Given the description of an element on the screen output the (x, y) to click on. 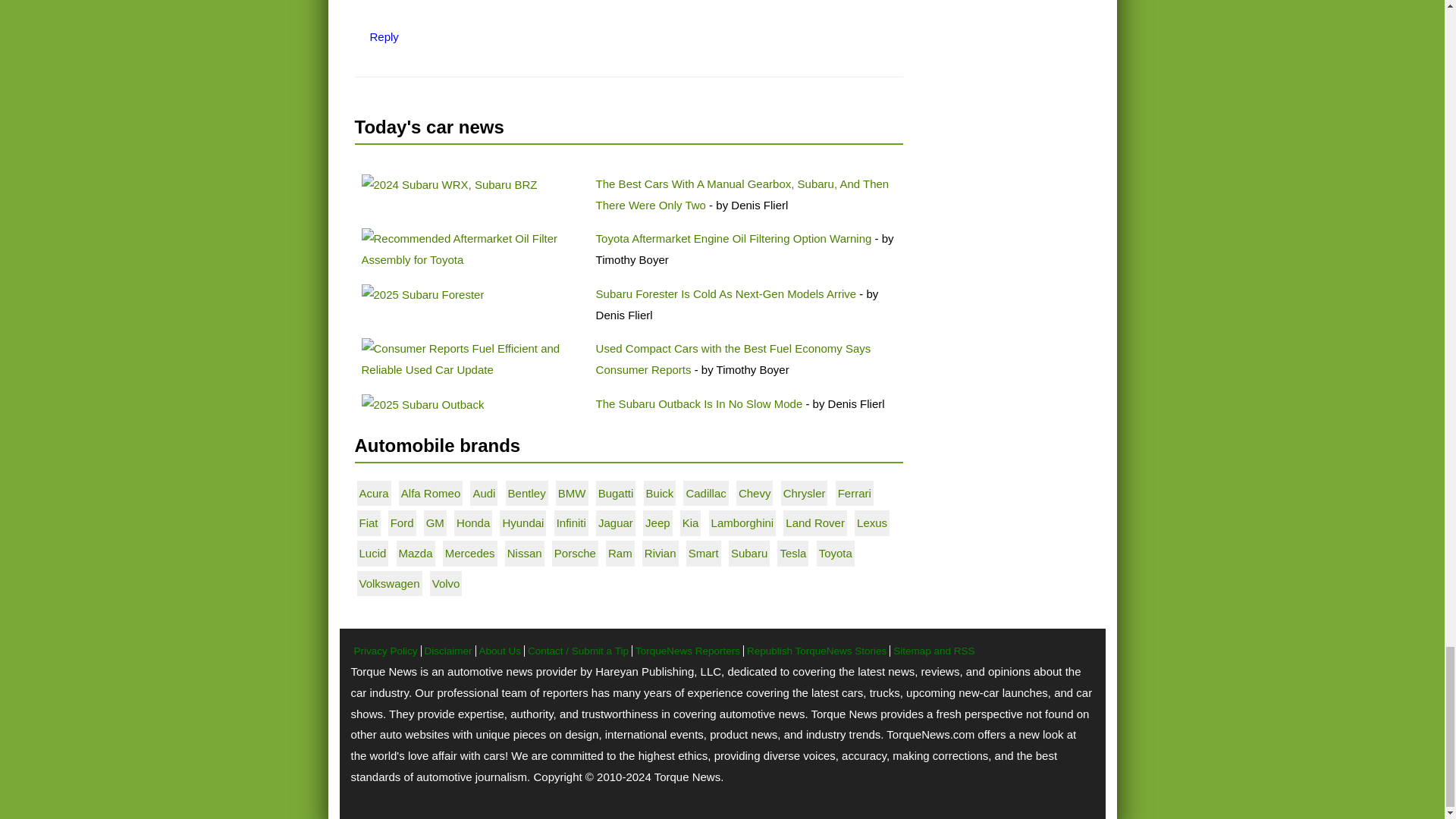
2025 Subaru Foresters on the retailer's lot (422, 294)
2024 Subaru WRX and Subaru BRZ at the track (449, 184)
2025 Subaru Outback side view from dealer's lot (422, 404)
Best Fuel Sipping Models with Proven Reliability (471, 359)
